Given the description of an element on the screen output the (x, y) to click on. 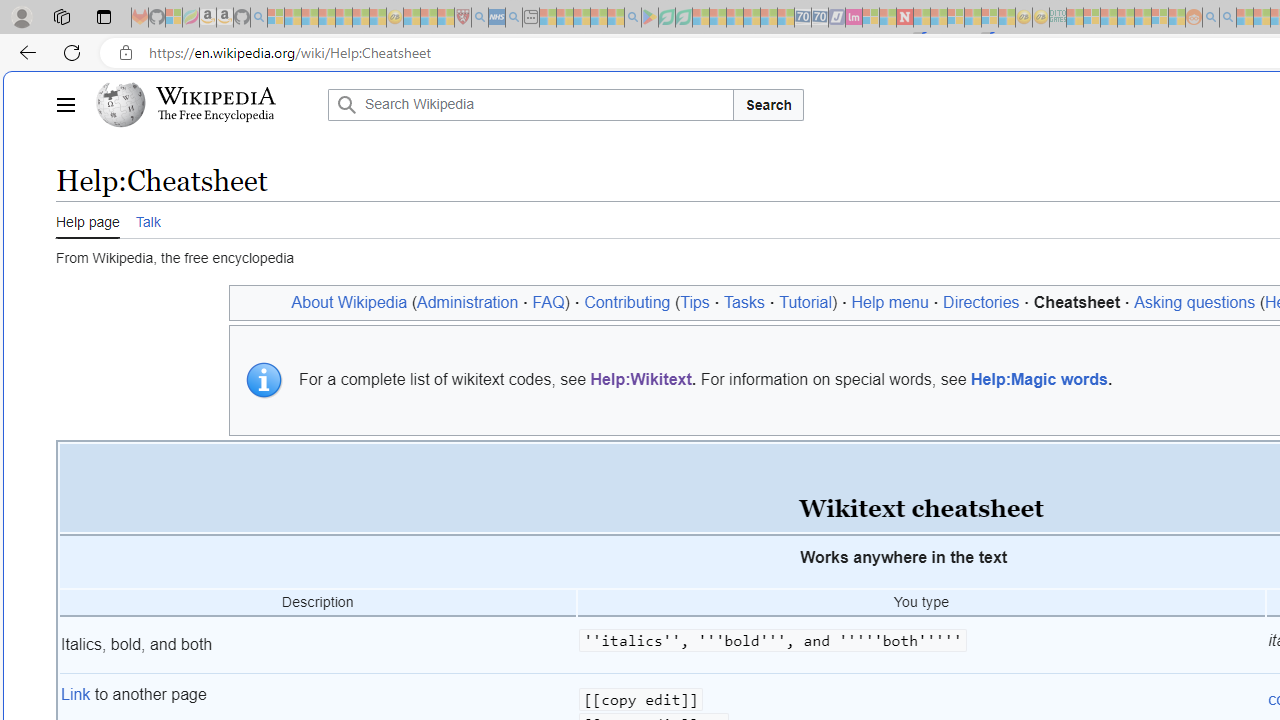
Tutorial (805, 302)
utah sues federal government - Search - Sleeping (513, 17)
Search Wikipedia (530, 104)
Wikipedia (216, 96)
